Given the description of an element on the screen output the (x, y) to click on. 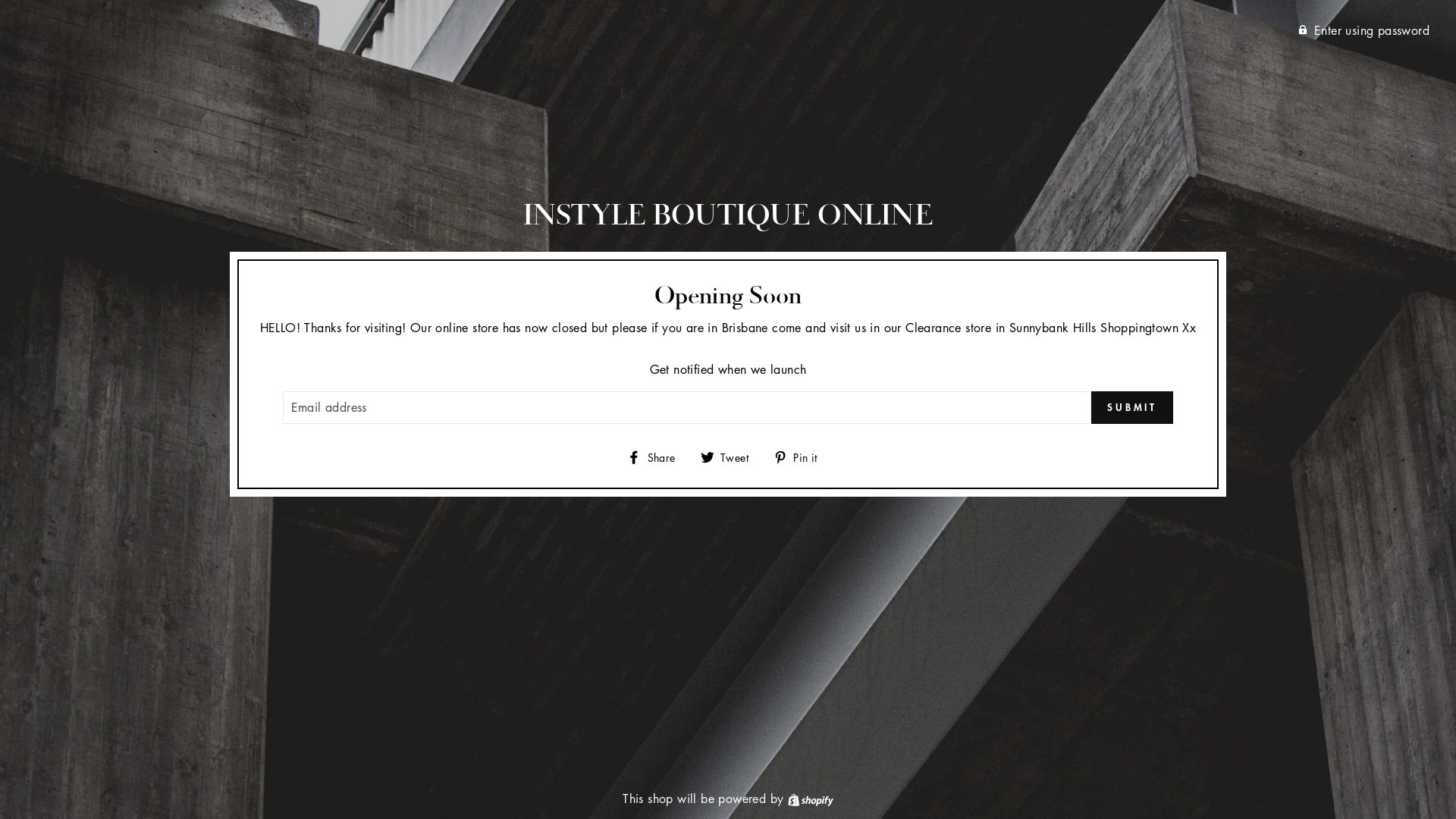
Shopify Element type: text (810, 798)
Share
Share on Facebook Element type: text (656, 456)
Tweet
Tweet on Twitter Element type: text (729, 456)
Pin it
Pin on Pinterest Element type: text (800, 456)
Enter using password Element type: text (1363, 30)
SUBMIT Element type: text (1132, 407)
